Given the description of an element on the screen output the (x, y) to click on. 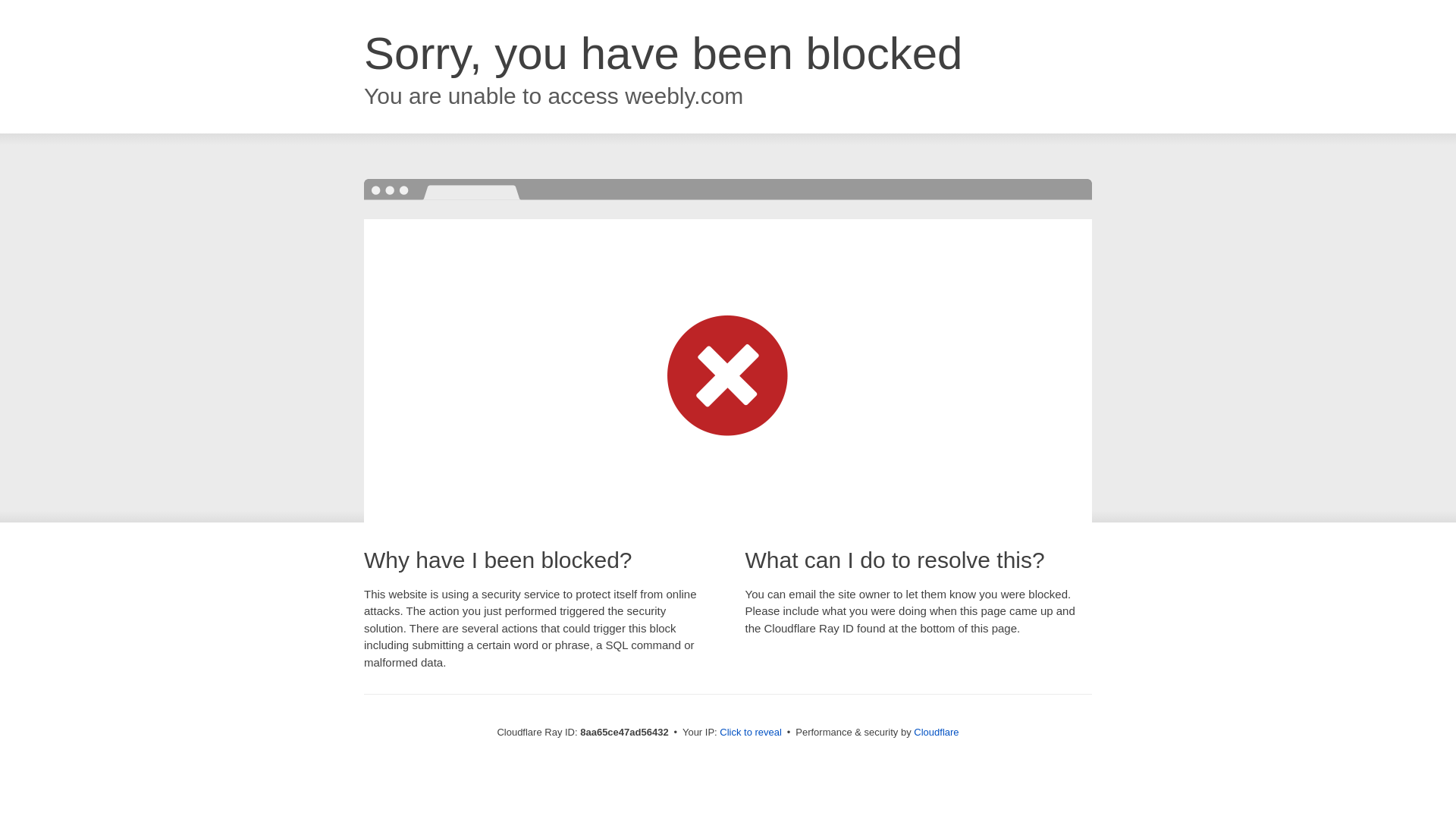
Cloudflare (936, 731)
Click to reveal (750, 732)
